Given the description of an element on the screen output the (x, y) to click on. 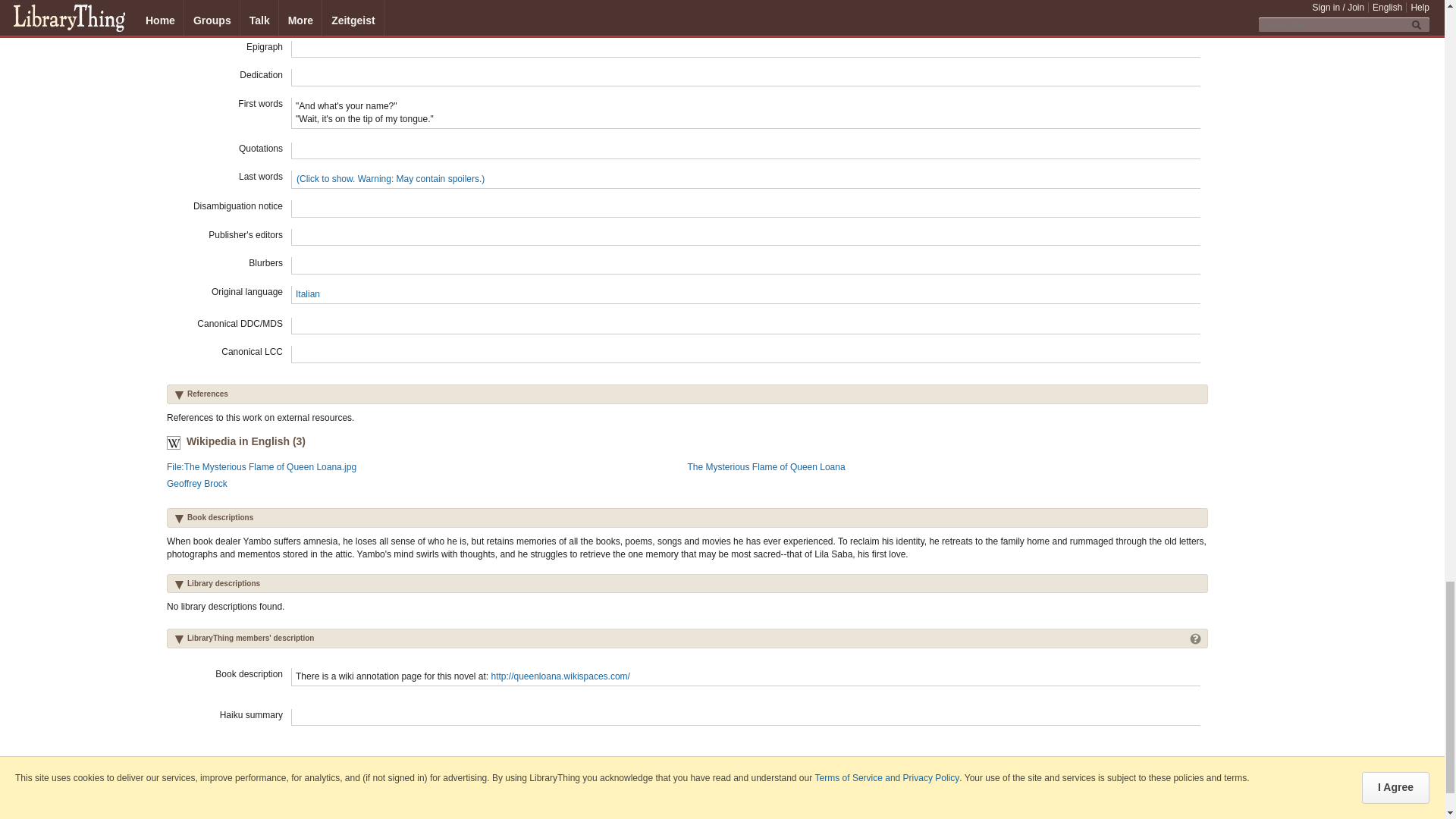
Help (1195, 637)
